Given the description of an element on the screen output the (x, y) to click on. 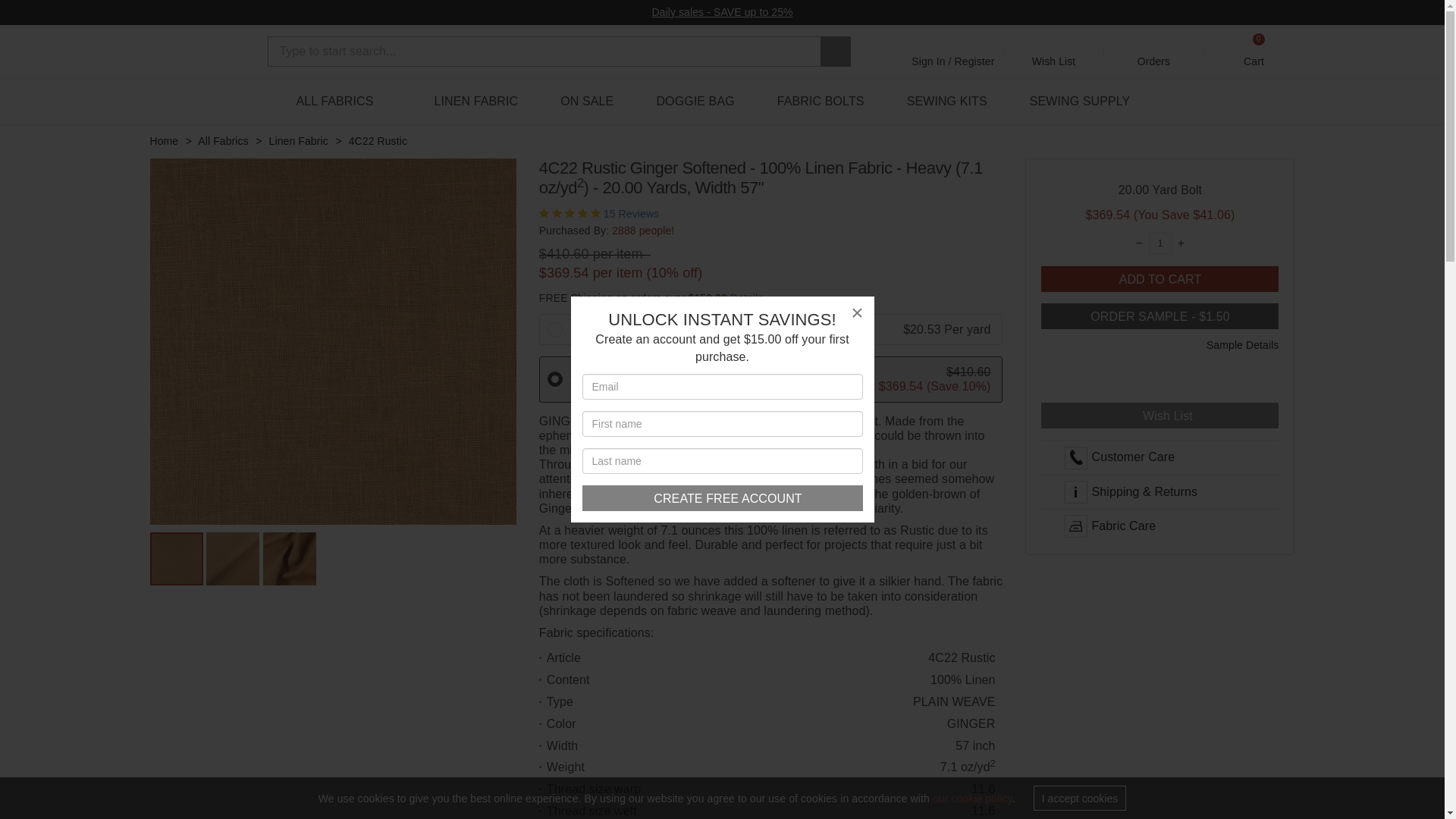
FABRIC BOLTS (820, 101)
LINEN FABRIC (475, 101)
DOGGIE BAG (694, 101)
Orders (1154, 51)
ON SALE (1253, 51)
SEWING KITS (586, 101)
Wish List (947, 101)
CREATE FREE ACCOUNT (1053, 51)
1 (722, 498)
Quantity, whole numbers only (1160, 242)
ALL FABRICS (1160, 242)
